Given the description of an element on the screen output the (x, y) to click on. 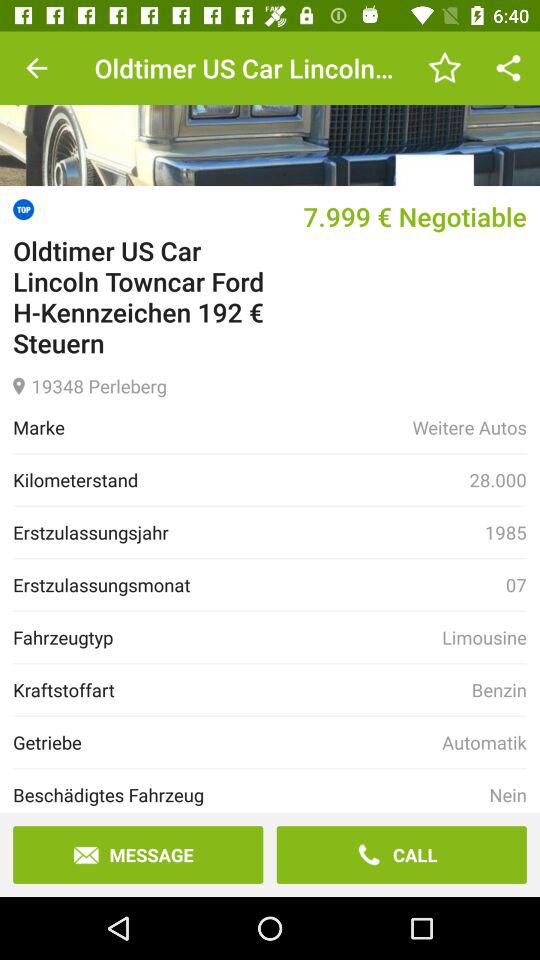
select item above weitere autos item (269, 384)
